Given the description of an element on the screen output the (x, y) to click on. 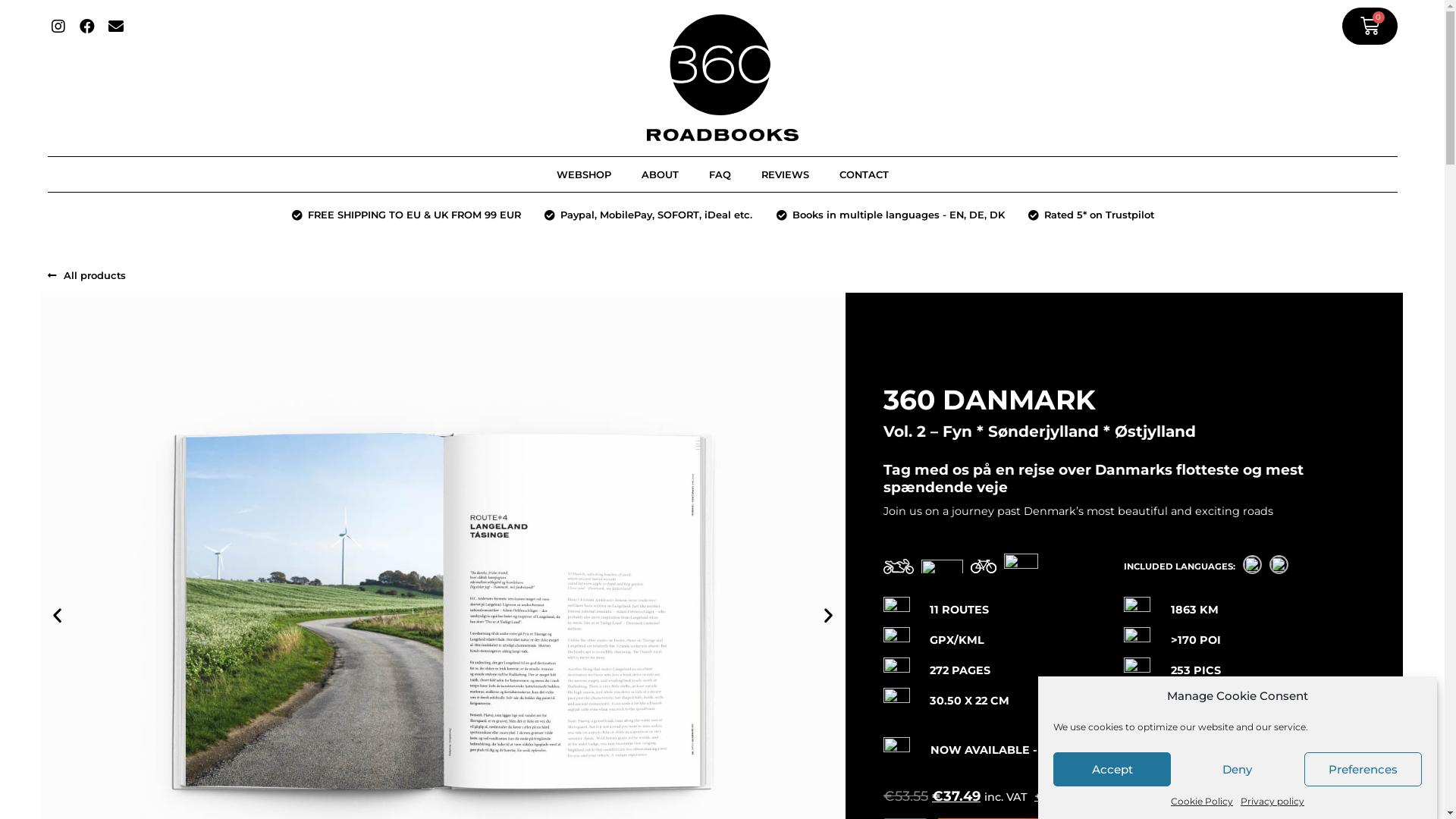
Accept Element type: text (1111, 769)
All products Element type: text (86, 275)
+ shipping Element type: text (1063, 796)
CONTACT Element type: text (863, 173)
0 Element type: text (1369, 25)
ABOUT Element type: text (659, 173)
Cookie Policy Element type: text (1201, 800)
WEBSHOP Element type: text (583, 173)
Deny Element type: text (1236, 769)
REVIEWS Element type: text (785, 173)
Preferences Element type: text (1362, 769)
Privacy policy Element type: text (1272, 800)
FAQ Element type: text (719, 173)
